Given the description of an element on the screen output the (x, y) to click on. 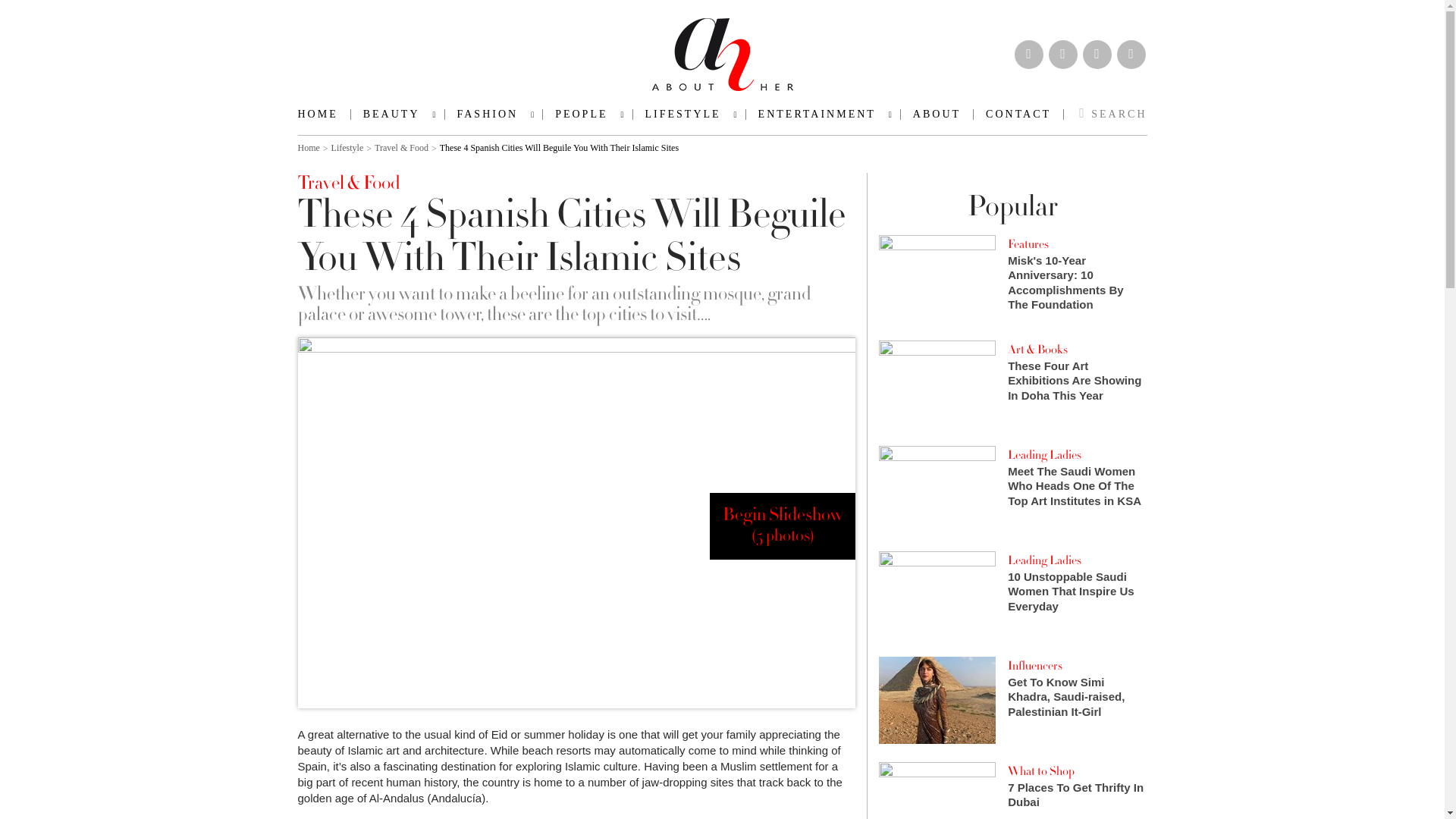
LIFESTYLE (688, 113)
HOME (323, 113)
PEOPLE (587, 113)
BEAUTY (397, 113)
Fashion (397, 113)
FASHION (494, 113)
Fashion (494, 113)
